Given the description of an element on the screen output the (x, y) to click on. 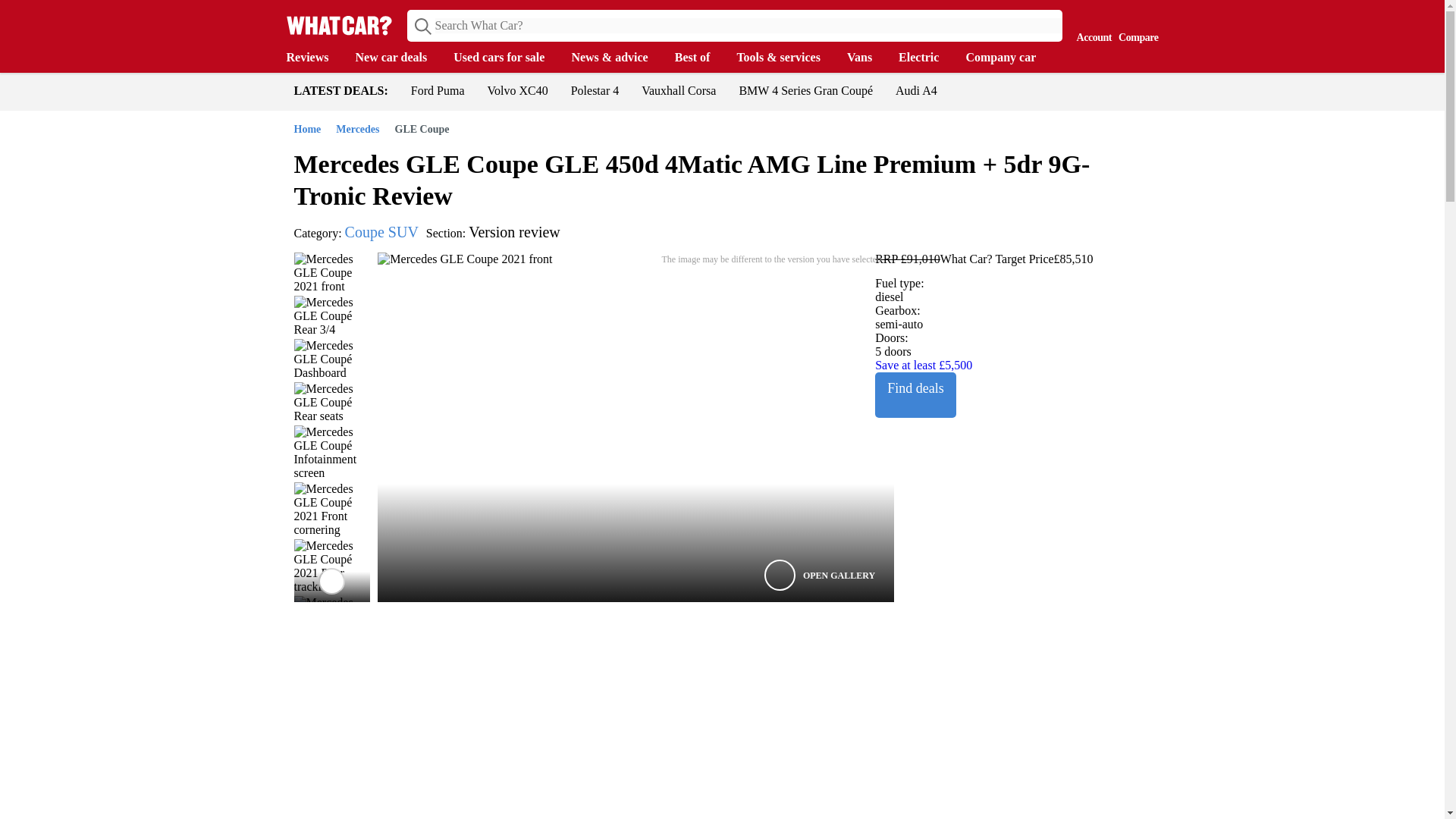
Used cars for sale (505, 57)
Company car (1008, 57)
Account (1091, 24)
Reviews (314, 57)
Electric (925, 57)
Vans (866, 57)
Compare (1134, 24)
WhatCar? logo (338, 25)
New car deals (398, 57)
Best of (700, 57)
